Given the description of an element on the screen output the (x, y) to click on. 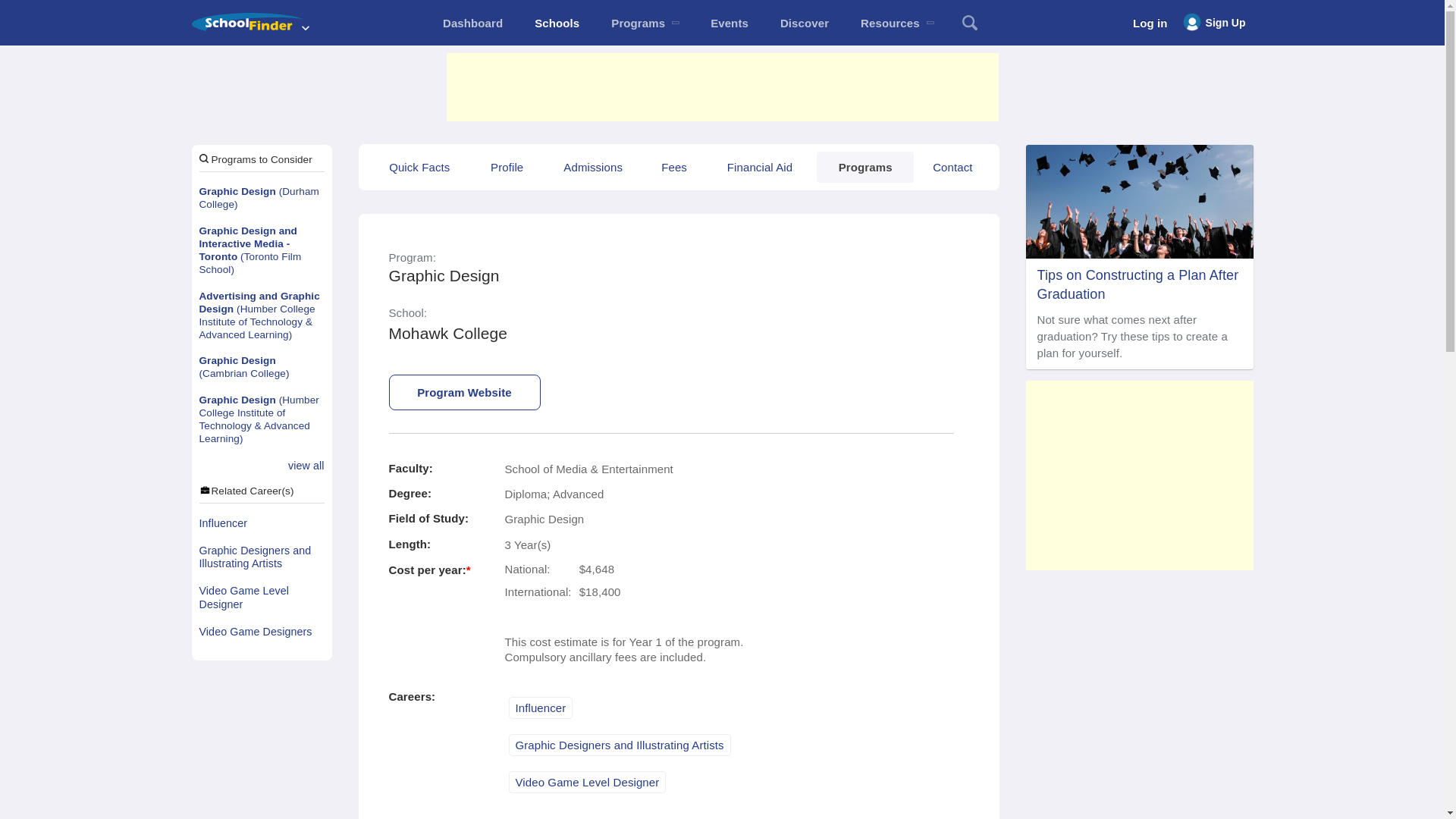
Influencer (260, 523)
Graphic Designers and Illustrating Artists (260, 557)
view all (306, 466)
Schools (556, 22)
Events (729, 22)
Admissions (592, 166)
Discover (804, 22)
Dashboard (472, 22)
Discover (804, 22)
Profile (506, 166)
